Given the description of an element on the screen output the (x, y) to click on. 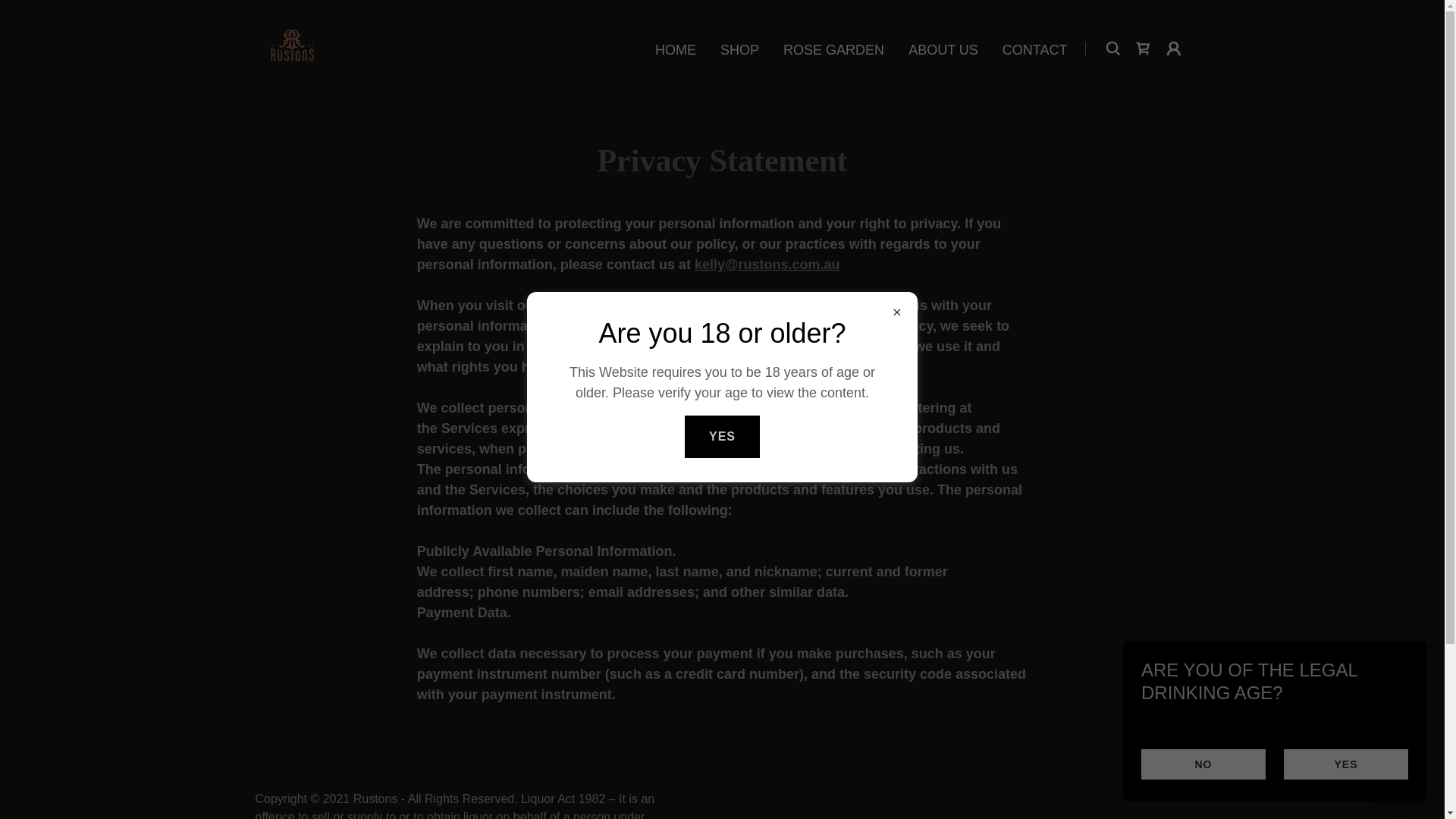
CONTACT (1034, 49)
HOME (675, 49)
ROSE GARDEN (833, 49)
SHOP (739, 49)
ABOUT US (943, 49)
NO (1203, 764)
